Given the description of an element on the screen output the (x, y) to click on. 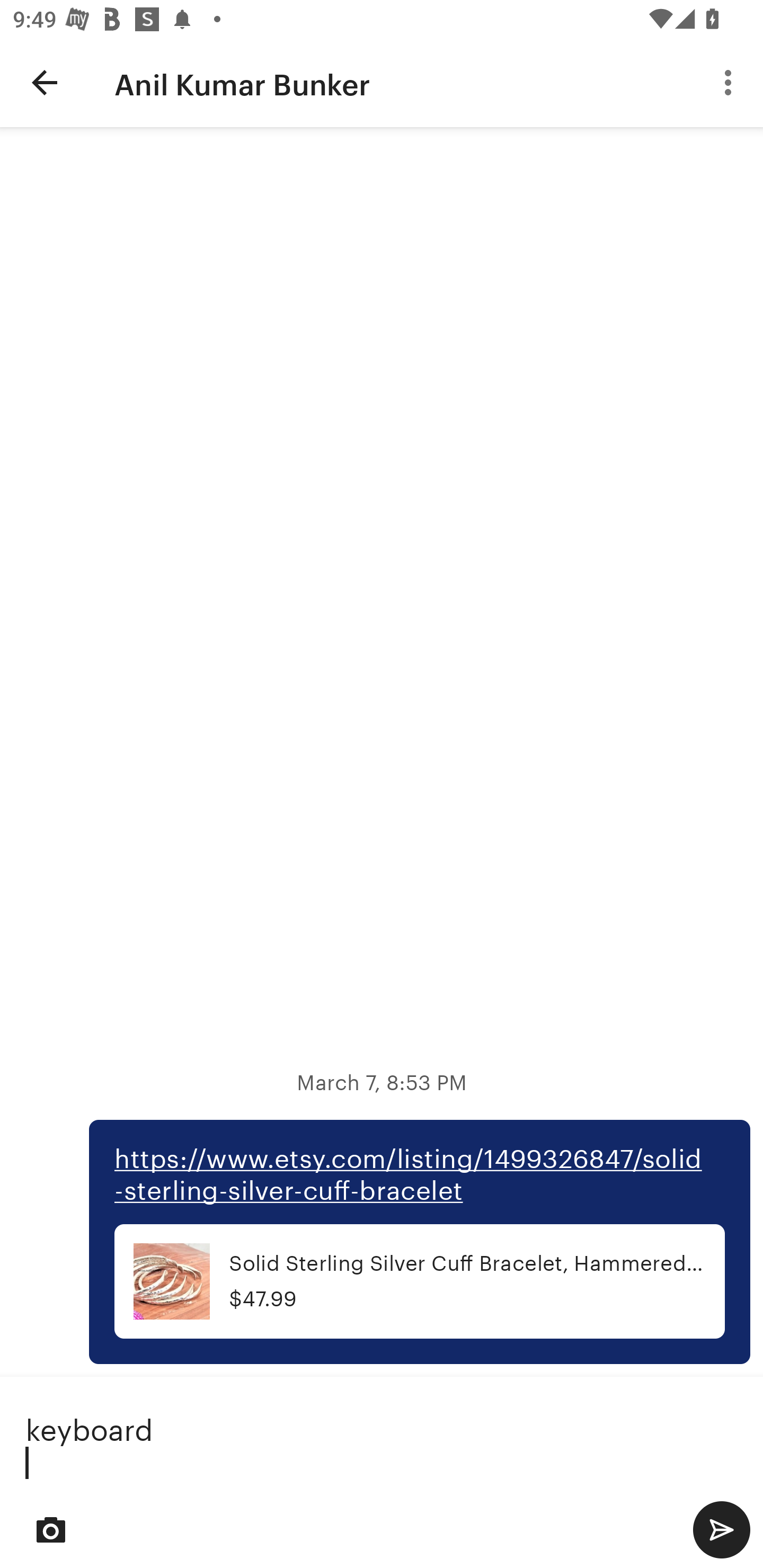
Navigate up (44, 82)
More options (731, 81)
keyboard
 (381, 1440)
Select image (50, 1529)
Send (721, 1529)
